Given the description of an element on the screen output the (x, y) to click on. 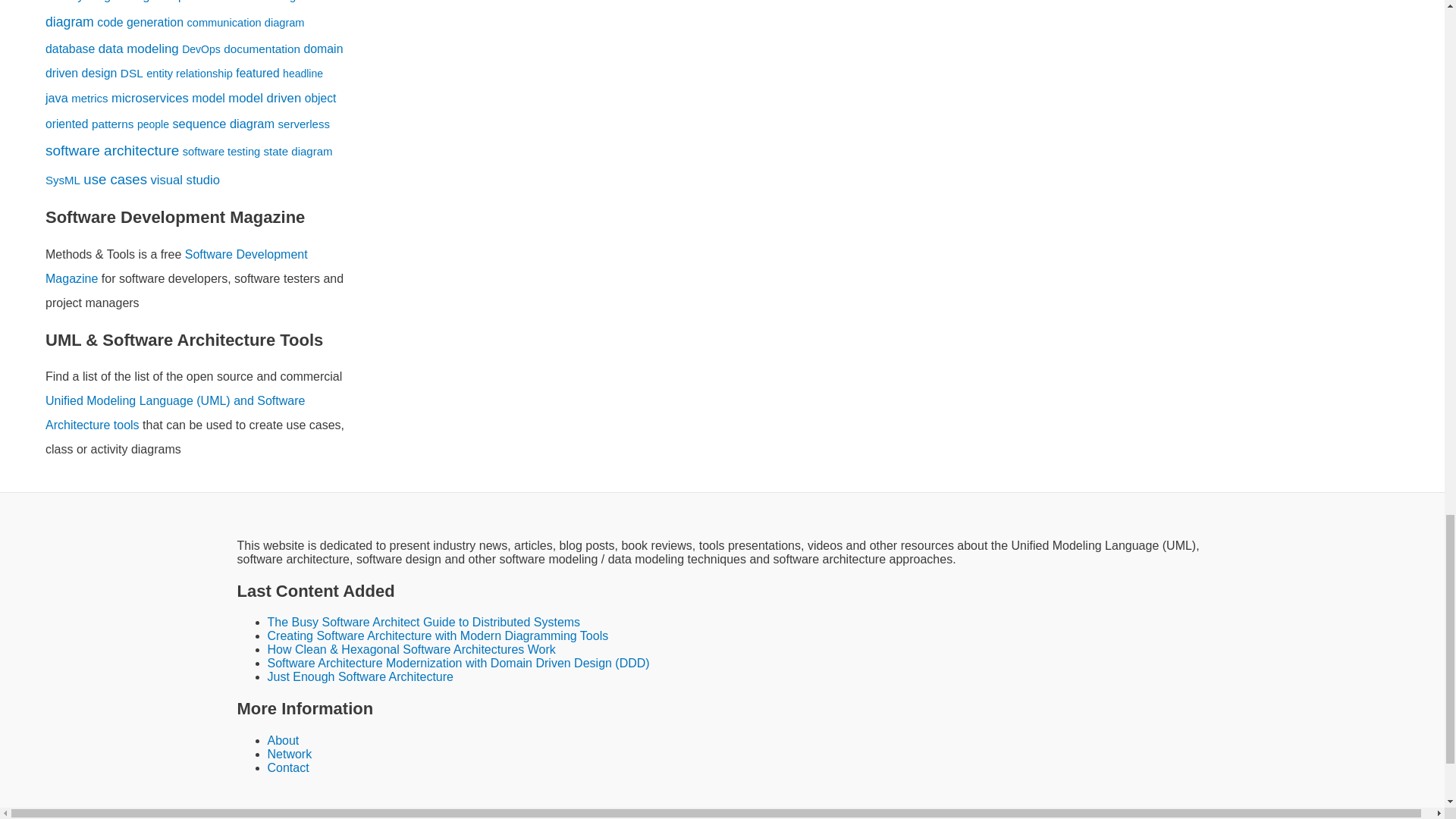
aspect oriented modeling (231, 1)
code generation (140, 21)
database (69, 48)
agile (148, 1)
class diagram (187, 14)
communication diagram (245, 22)
activity diagram (88, 1)
